Given the description of an element on the screen output the (x, y) to click on. 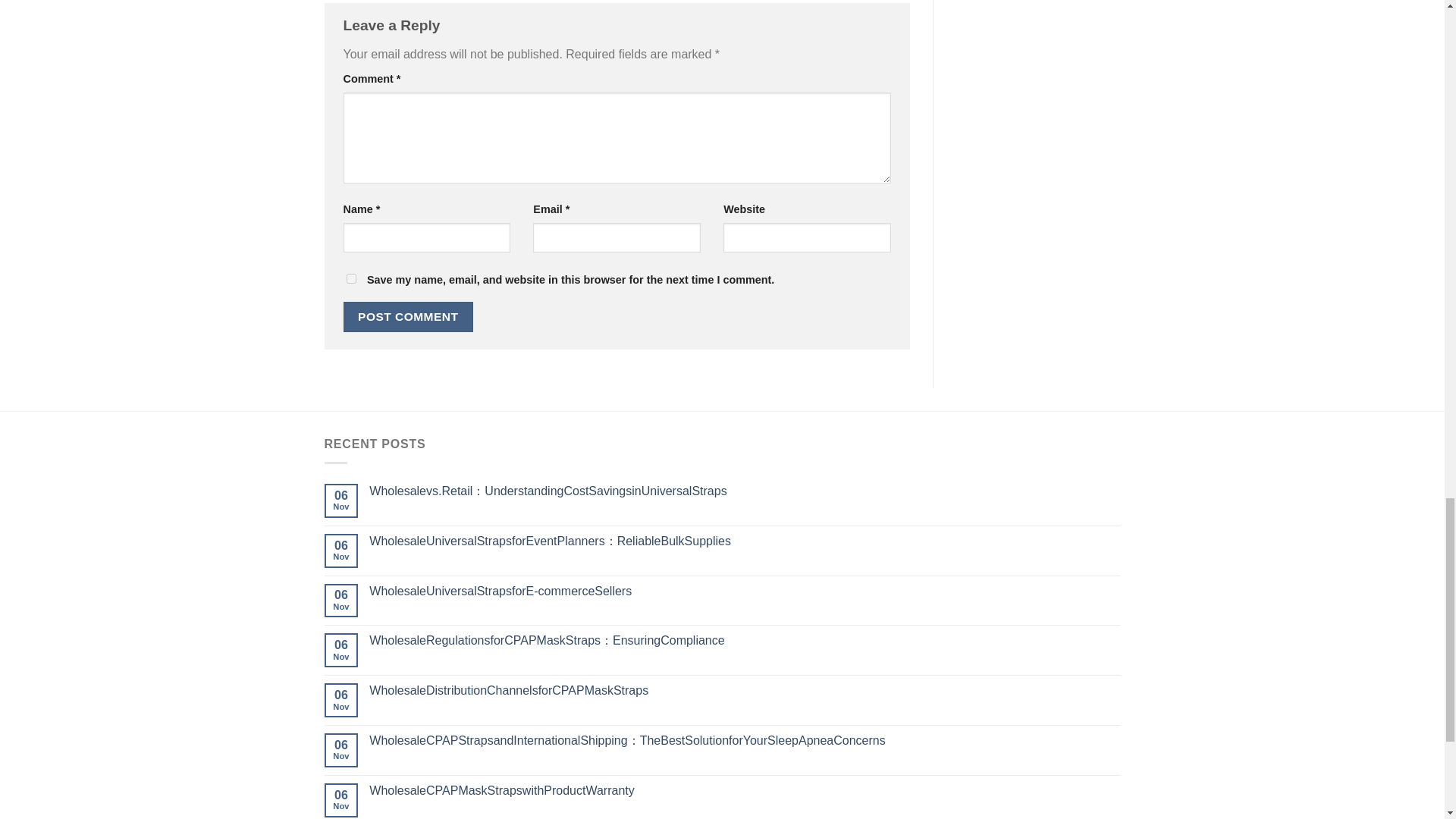
Post Comment (407, 316)
yes (350, 278)
WholesaleUniversalStrapsforE-commerceSellers (744, 590)
Post Comment (407, 316)
WholesaleDistributionChannelsforCPAPMaskStraps (744, 690)
